Given the description of an element on the screen output the (x, y) to click on. 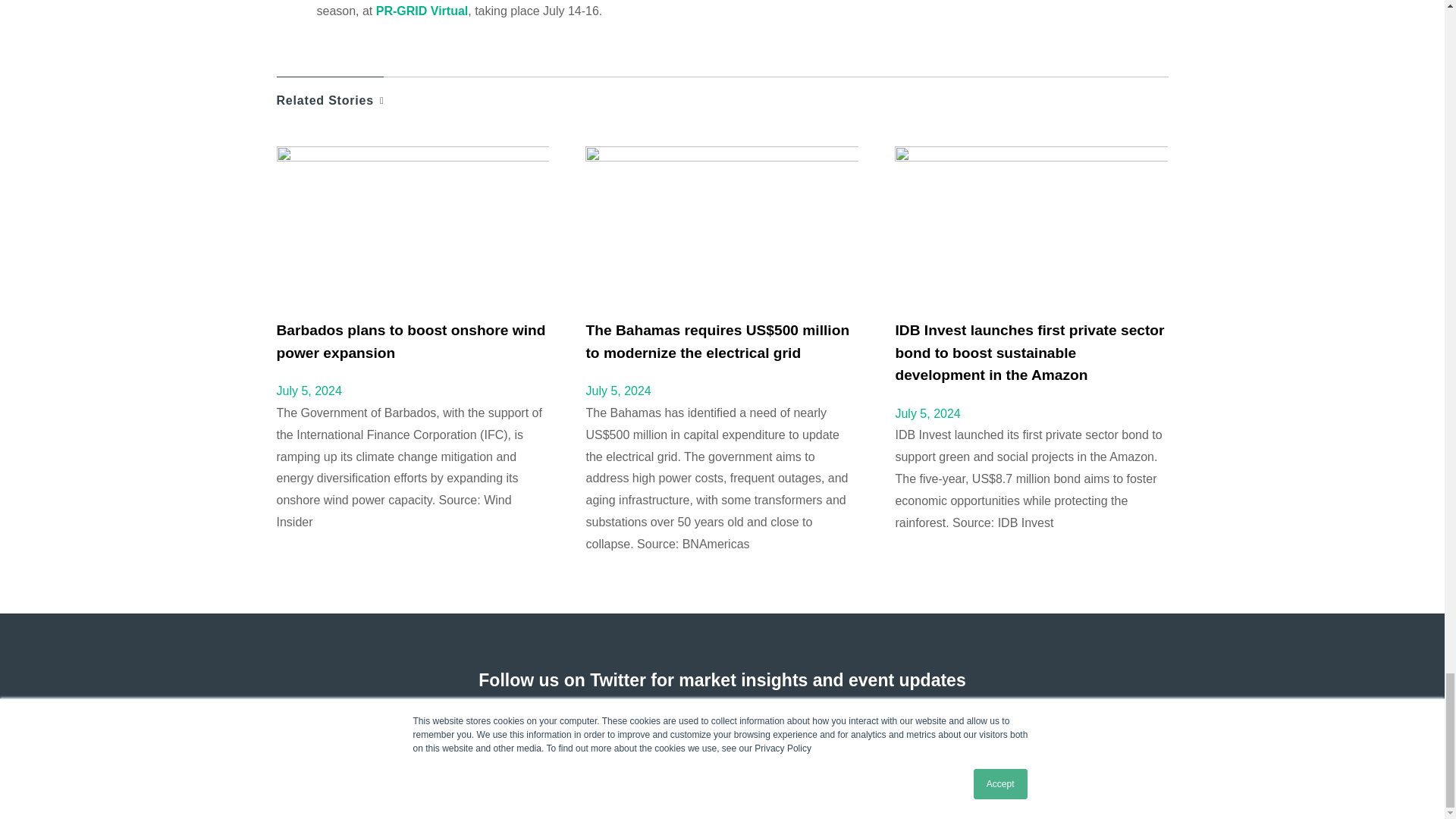
Barbados plans to boost onshore wind power expansion (410, 341)
Related Stories (330, 92)
PR-GRID Virtual (421, 10)
Terms and Conditions (292, 777)
